Given the description of an element on the screen output the (x, y) to click on. 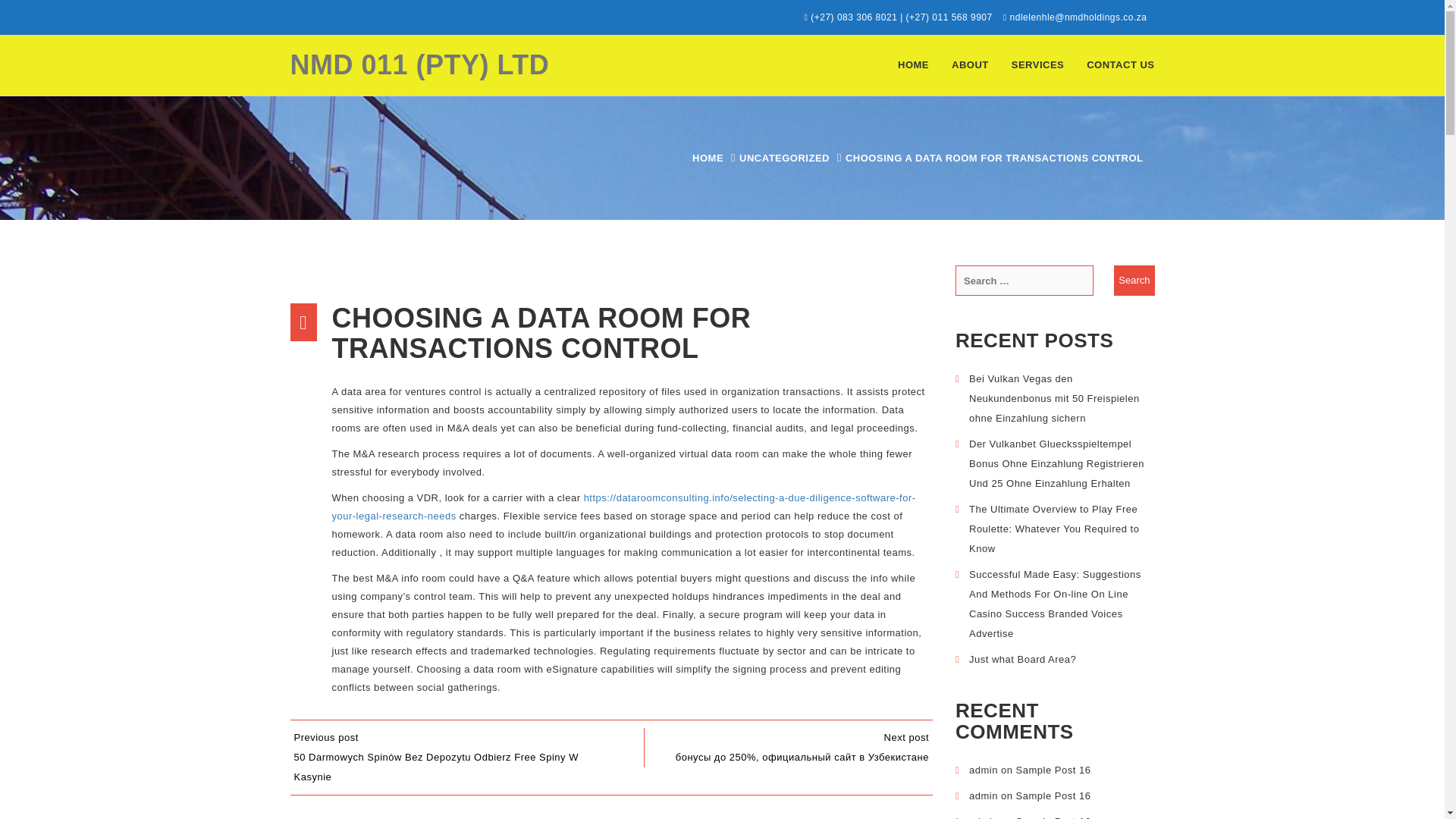
Just what Board Area? (1022, 659)
Search (1133, 280)
Search (1133, 280)
Sample Post 16 (1053, 817)
UNCATEGORIZED (784, 157)
Sample Post 16 (1053, 795)
About (970, 65)
Search (1133, 280)
ABOUT (970, 65)
Contact Us (1120, 65)
Services (1037, 65)
HOME (708, 157)
CONTACT US (1120, 65)
